Given the description of an element on the screen output the (x, y) to click on. 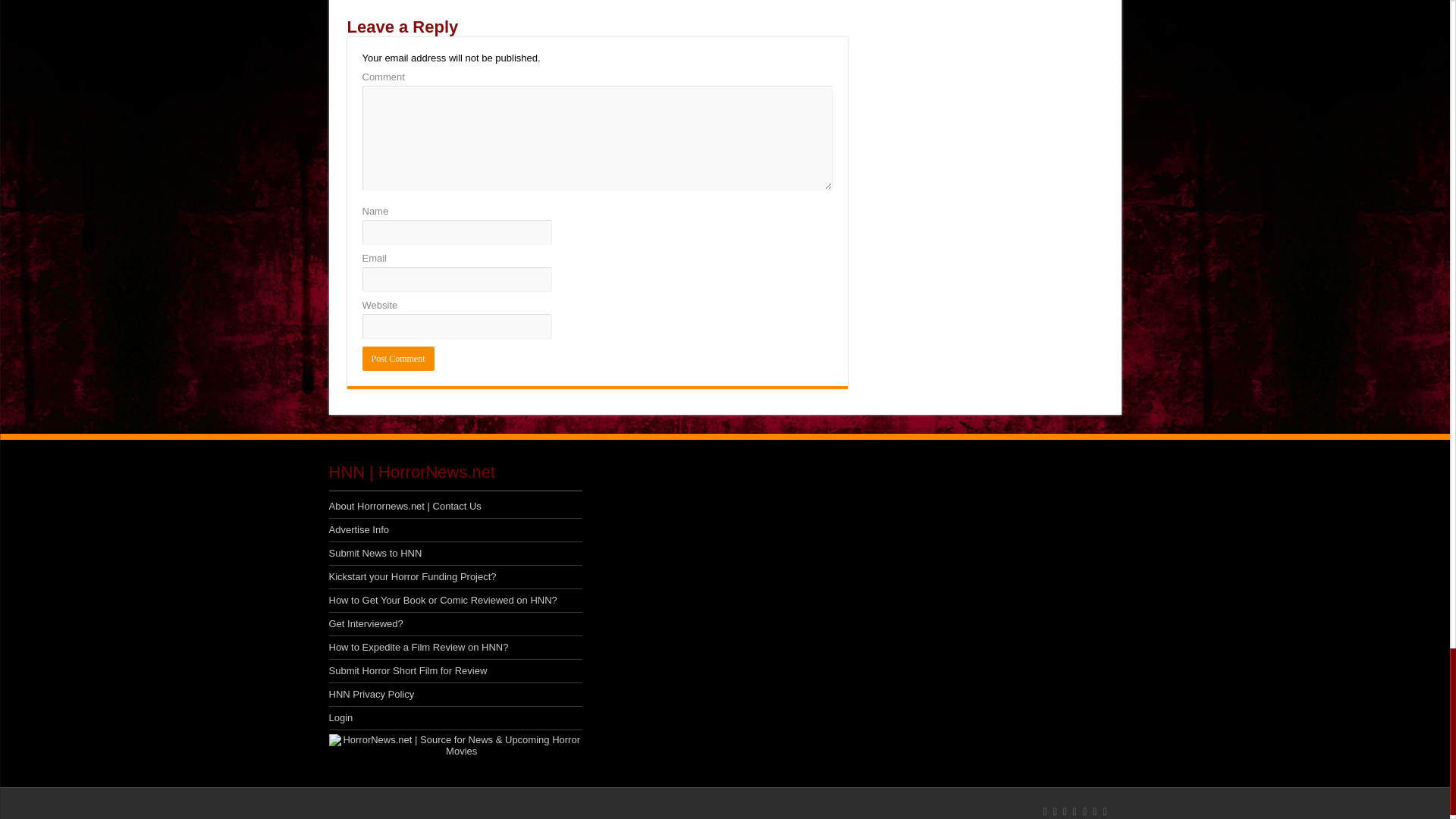
Post Comment (397, 358)
